Given the description of an element on the screen output the (x, y) to click on. 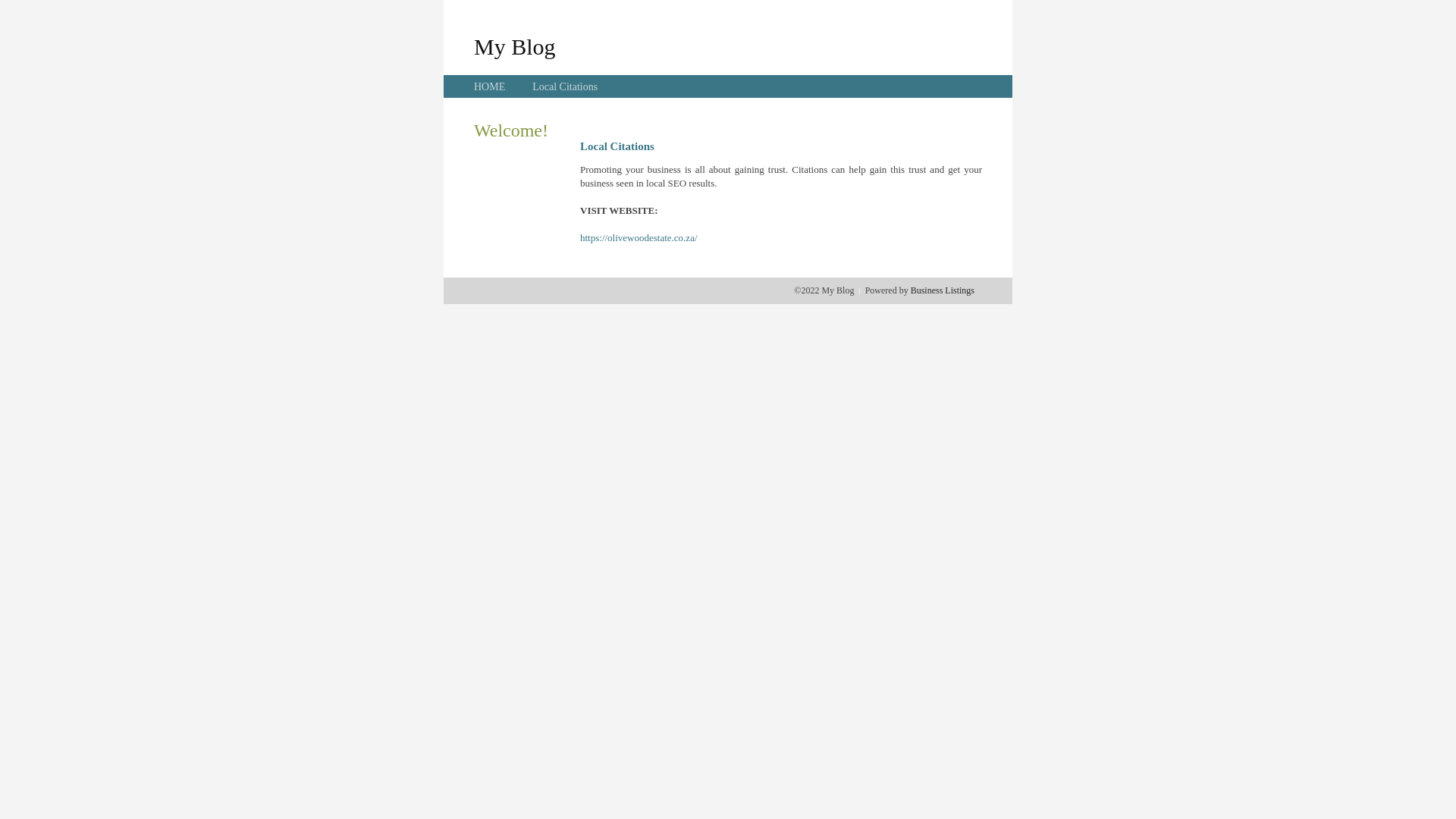
Local Citations Element type: text (564, 86)
HOME Element type: text (489, 86)
My Blog Element type: text (514, 46)
Business Listings Element type: text (942, 290)
https://olivewoodestate.co.za/ Element type: text (638, 237)
